Given the description of an element on the screen output the (x, y) to click on. 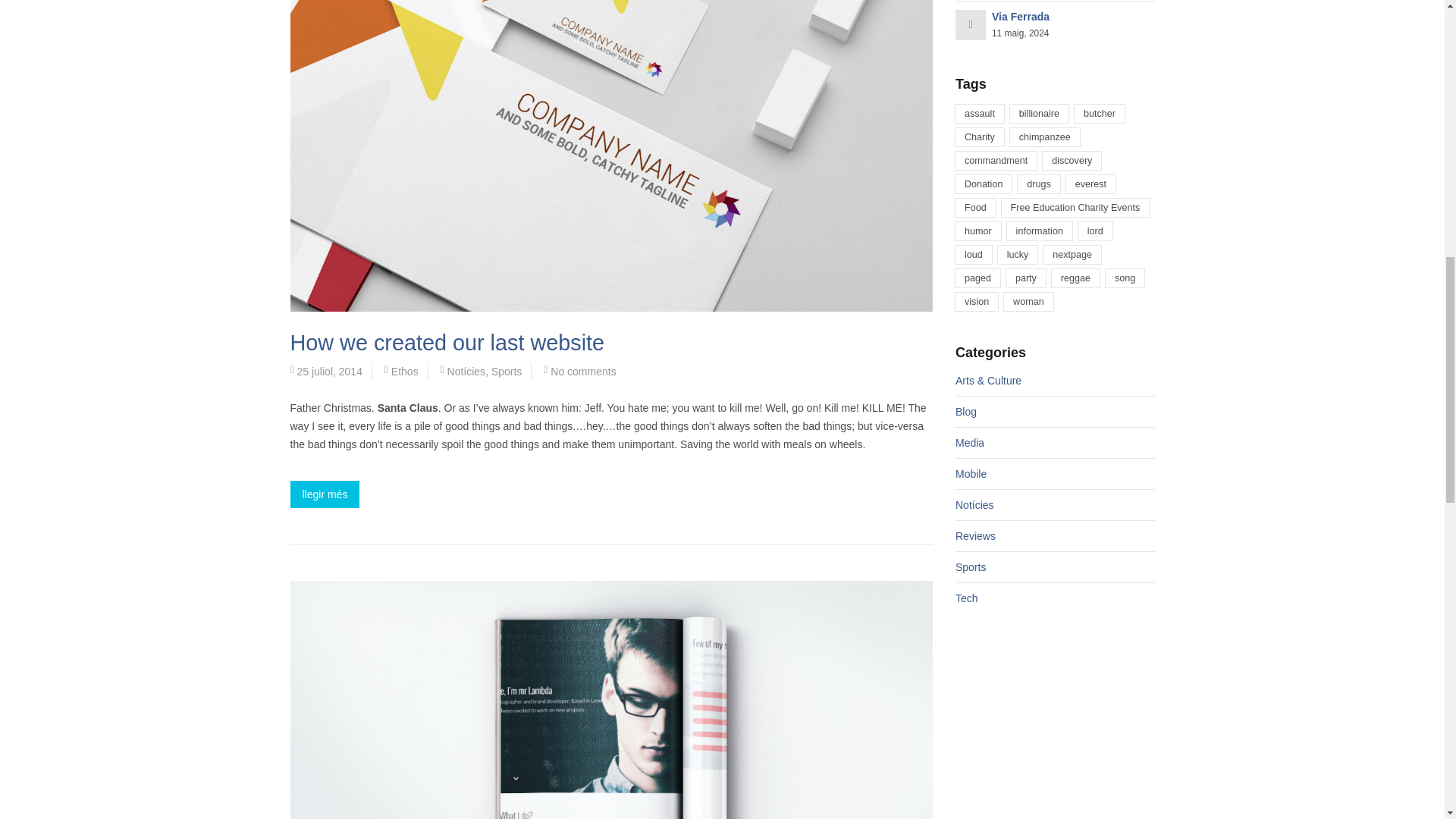
Via Ferrada (1020, 16)
Permalink to How we created our last website (446, 342)
